Given the description of an element on the screen output the (x, y) to click on. 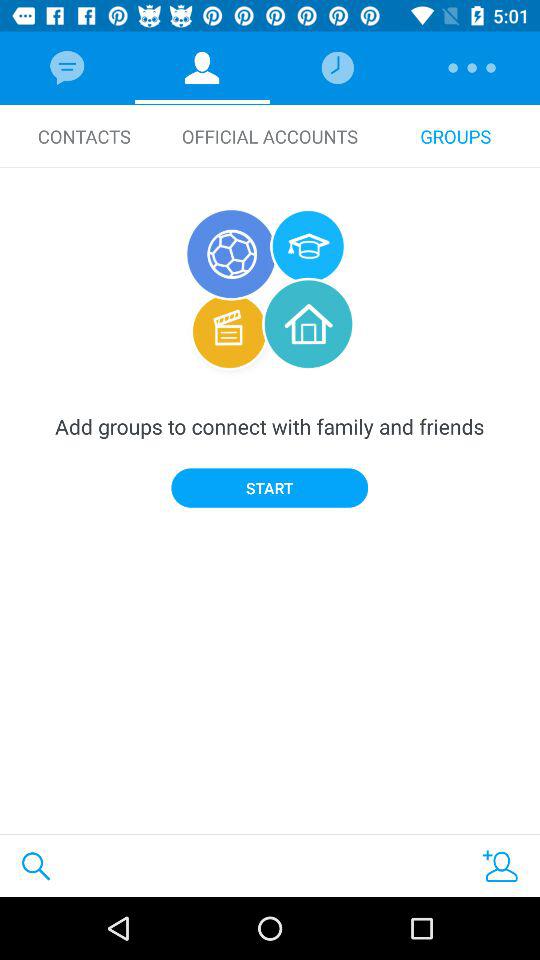
press official accounts icon (269, 136)
